Given the description of an element on the screen output the (x, y) to click on. 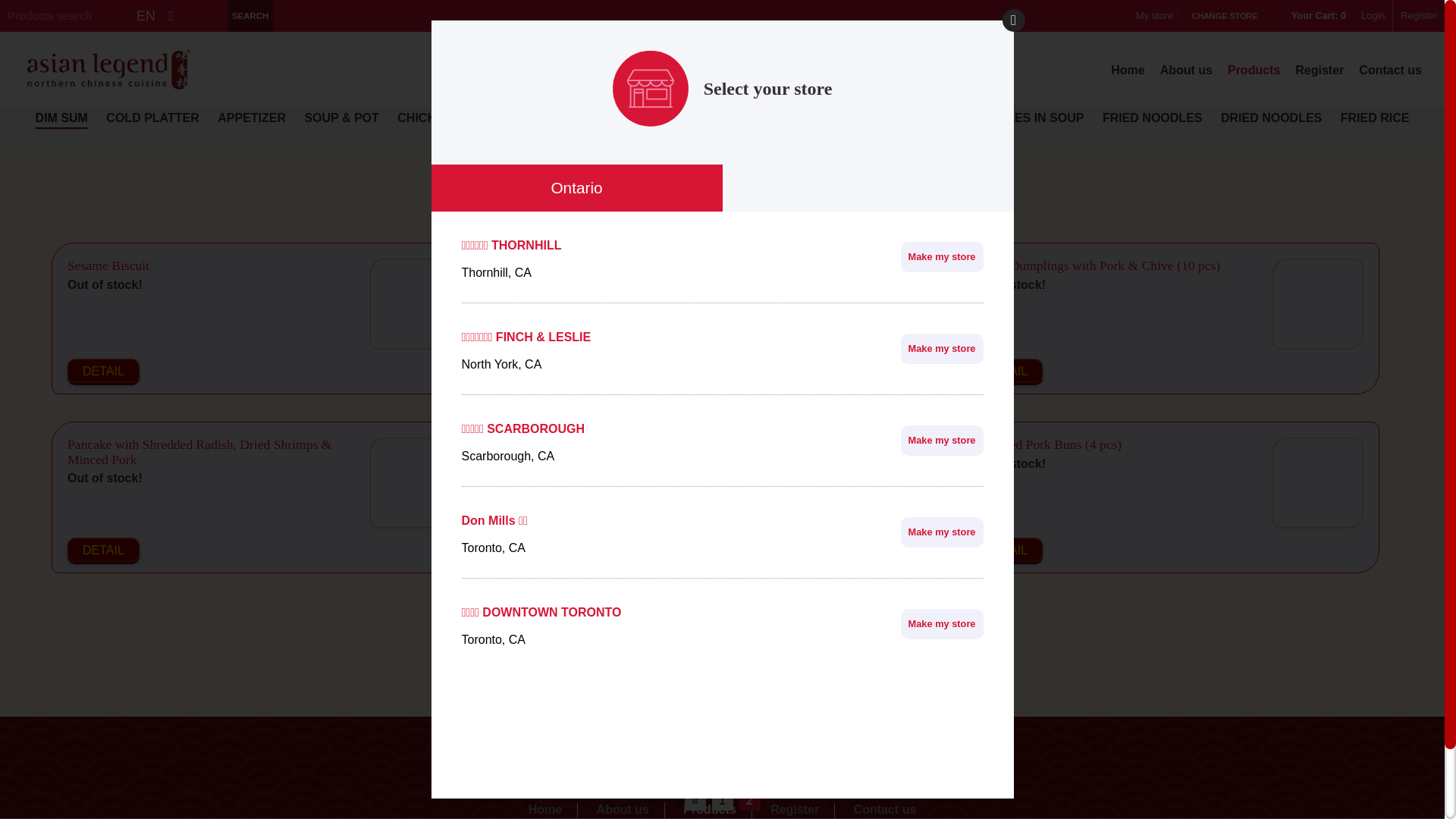
Boiled Dumplings with Pork & Chive (10 pcs) Element type: hover (1317, 303)
Products Element type: text (1253, 70)
DRIED NOODLES Element type: text (1270, 117)
CHICKEN & DUCK Element type: text (450, 117)
DIM SUM Element type: text (61, 117)
Login Element type: text (1372, 15)
FRIED RICE Element type: text (1374, 117)
About us Element type: text (1186, 70)
BEVERAGE Element type: text (713, 139)
About us Element type: text (623, 810)
PORK Element type: text (640, 117)
Pan Fried Pork Buns (4 pcs) Element type: hover (1317, 482)
Search Element type: text (250, 15)
Your Cart: 0 Element type: text (1313, 15)
Sesame Biscuit Element type: hover (414, 303)
Contact us Element type: text (884, 810)
Register Element type: text (1319, 70)
SOUP & POT Element type: text (341, 117)
Sesame Biscuit with Deep Fried Chinese Dough Stick Element type: hover (865, 303)
SEAFOOD Element type: text (707, 117)
DETAIL Element type: text (103, 549)
EN Element type: text (145, 15)
Home Element type: text (1127, 70)
TOFU Element type: text (771, 117)
Sesame Biscuit Element type: text (108, 265)
DETAIL Element type: text (103, 370)
DETAIL Element type: text (1006, 549)
GREENS Element type: text (832, 117)
DETAIL Element type: text (1006, 370)
Boiled Dumplings with Pork & Chive (10 pcs) Element type: text (1095, 265)
PARTY TRAY Element type: text (802, 139)
Millet Congee Element type: hover (865, 482)
Register Element type: text (1418, 15)
2 Element type: text (748, 800)
Sesame Biscuit with Deep Fried Chinese Dough Stick Element type: text (663, 265)
NOODLES IN SOUP Element type: text (1026, 117)
CASSEROLE Element type: text (914, 117)
Pan Fried Pork Buns (4 pcs) Element type: text (1045, 443)
Home Element type: text (545, 810)
DETAIL Element type: text (555, 370)
FRIED NOODLES Element type: text (1152, 117)
Pancake with Shredded Radish, Dried Shrimps & Minced Pork Element type: text (199, 451)
DESSERT Element type: text (632, 139)
Contact us Element type: text (1389, 70)
Products Element type: text (709, 810)
APPETIZER Element type: text (251, 117)
BEEF & LAMB Element type: text (562, 117)
Millet Congee Element type: text (557, 443)
DETAIL Element type: text (555, 549)
1 Element type: text (721, 800)
COLD PLATTER Element type: text (152, 117)
Register Element type: text (794, 810)
Terms & conditions Element type: text (721, 768)
Asian Legend Element type: hover (107, 69)
Pancake with Shredded Radish, Dried Shrimps & Minced Pork Element type: hover (414, 482)
